Given the description of an element on the screen output the (x, y) to click on. 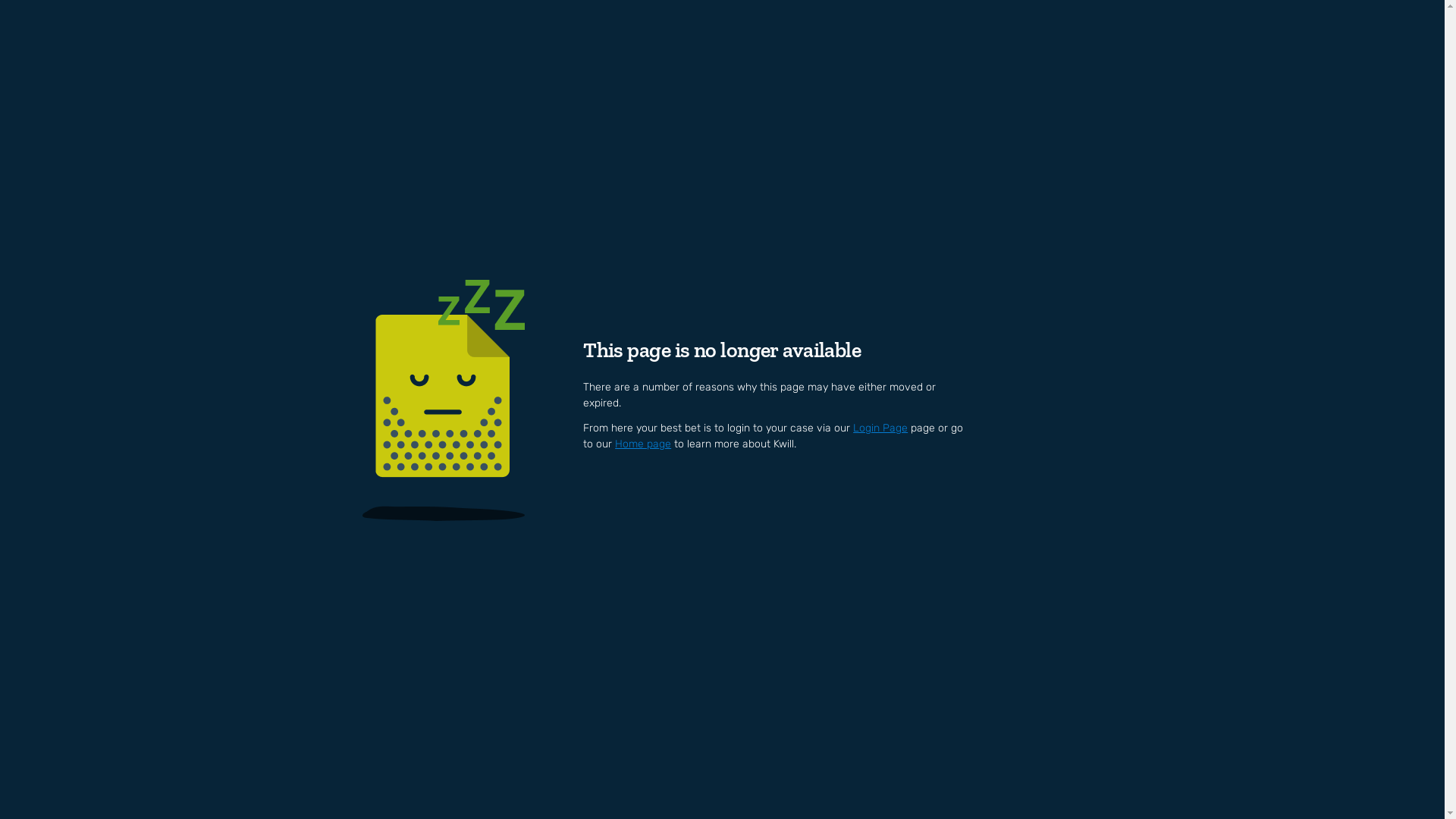
Home page Element type: text (643, 443)
Login Page Element type: text (880, 427)
